Given the description of an element on the screen output the (x, y) to click on. 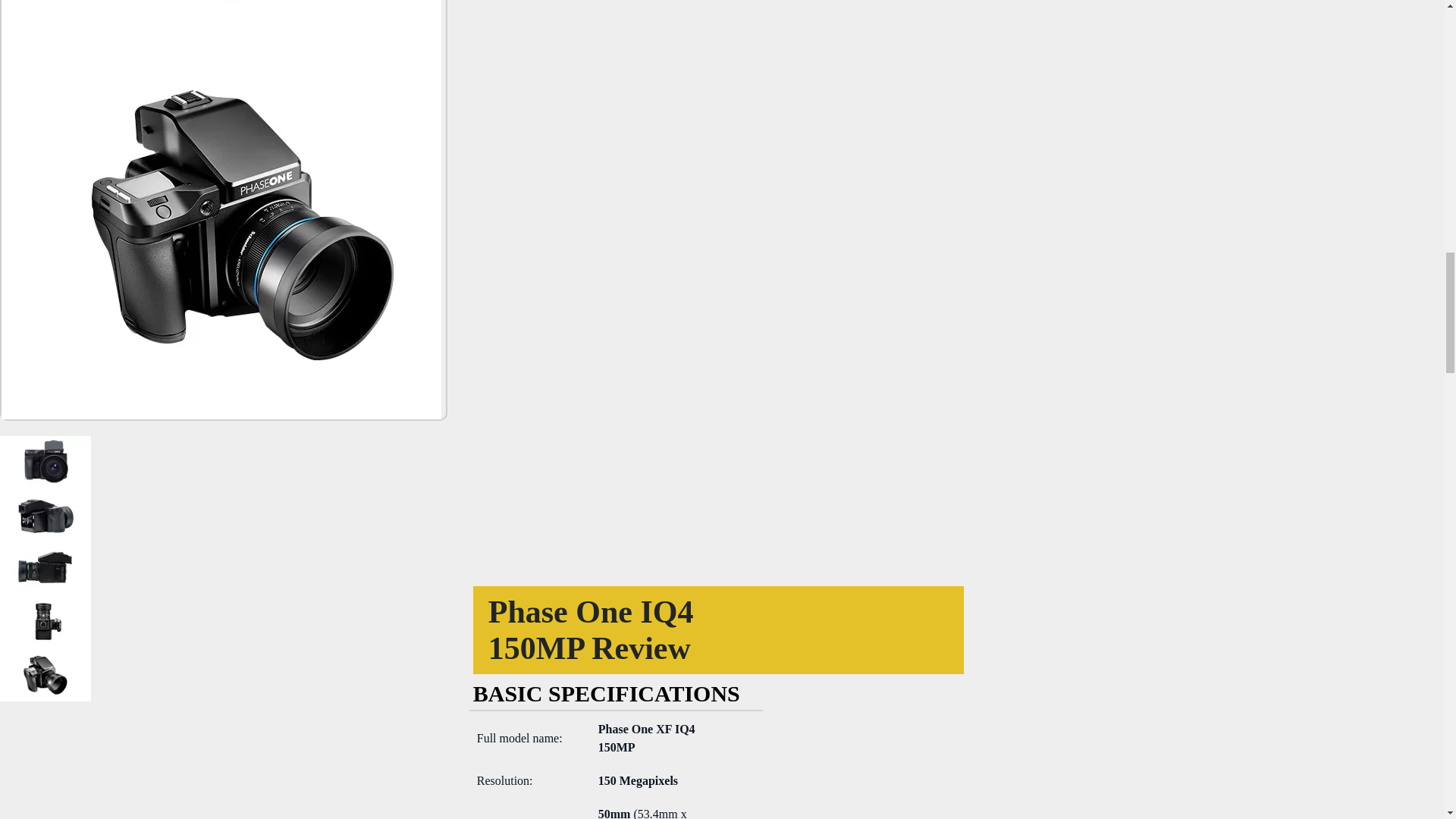
Prespective 4 (221, 23)
